Given the description of an element on the screen output the (x, y) to click on. 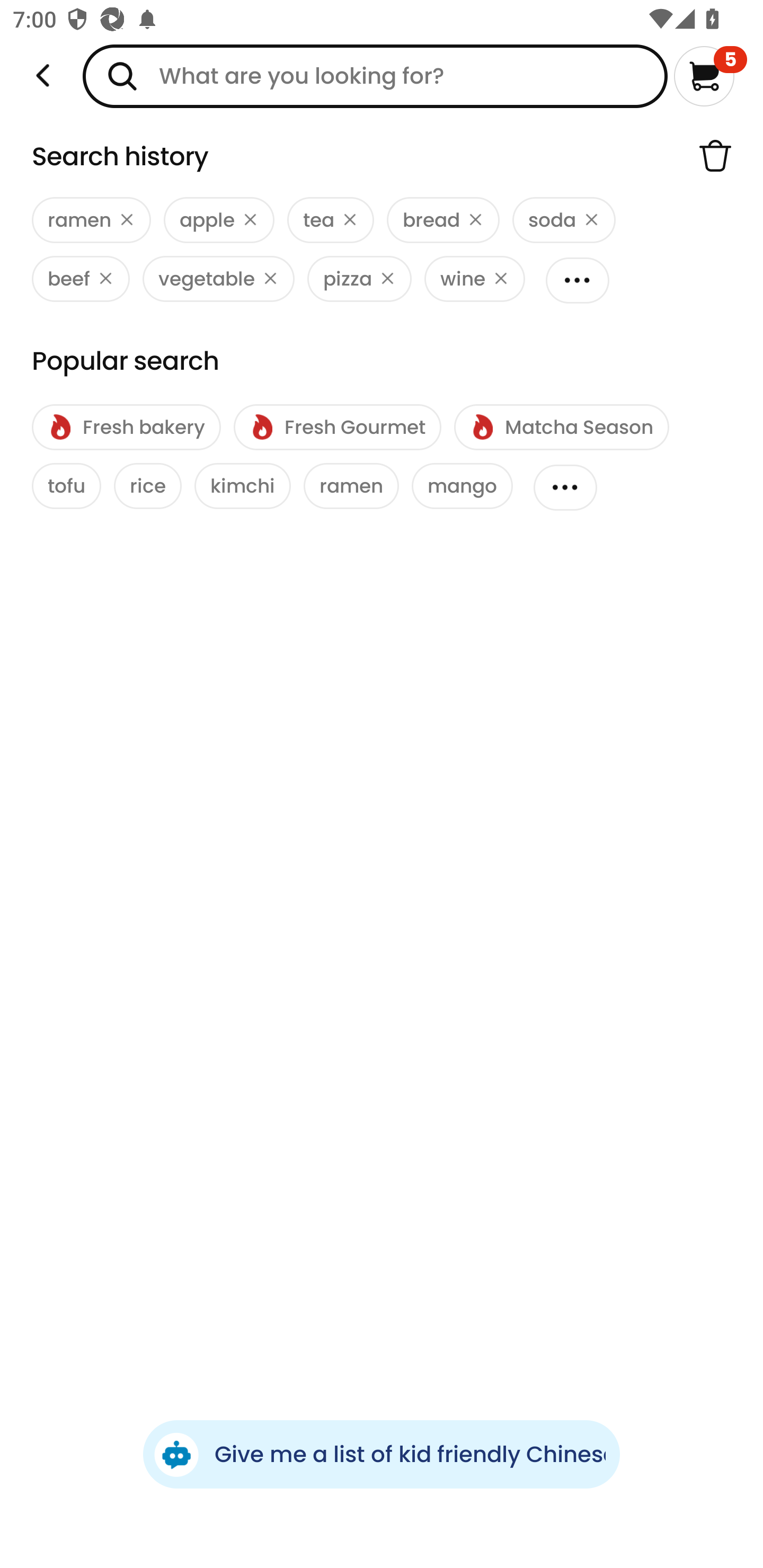
What are you looking for? (374, 75)
5 (709, 75)
Weee! (42, 76)
ramen (91, 220)
apple (219, 220)
tea (329, 220)
bread (442, 220)
soda (563, 220)
beef (80, 278)
vegetable (218, 278)
pizza (359, 278)
wine (474, 278)
Fresh bakery (126, 427)
Fresh Gourmet (337, 427)
Matcha Season (561, 427)
tofu (66, 485)
rice (147, 485)
kimchi (242, 485)
ramen (351, 485)
mango (462, 485)
